Given the description of an element on the screen output the (x, y) to click on. 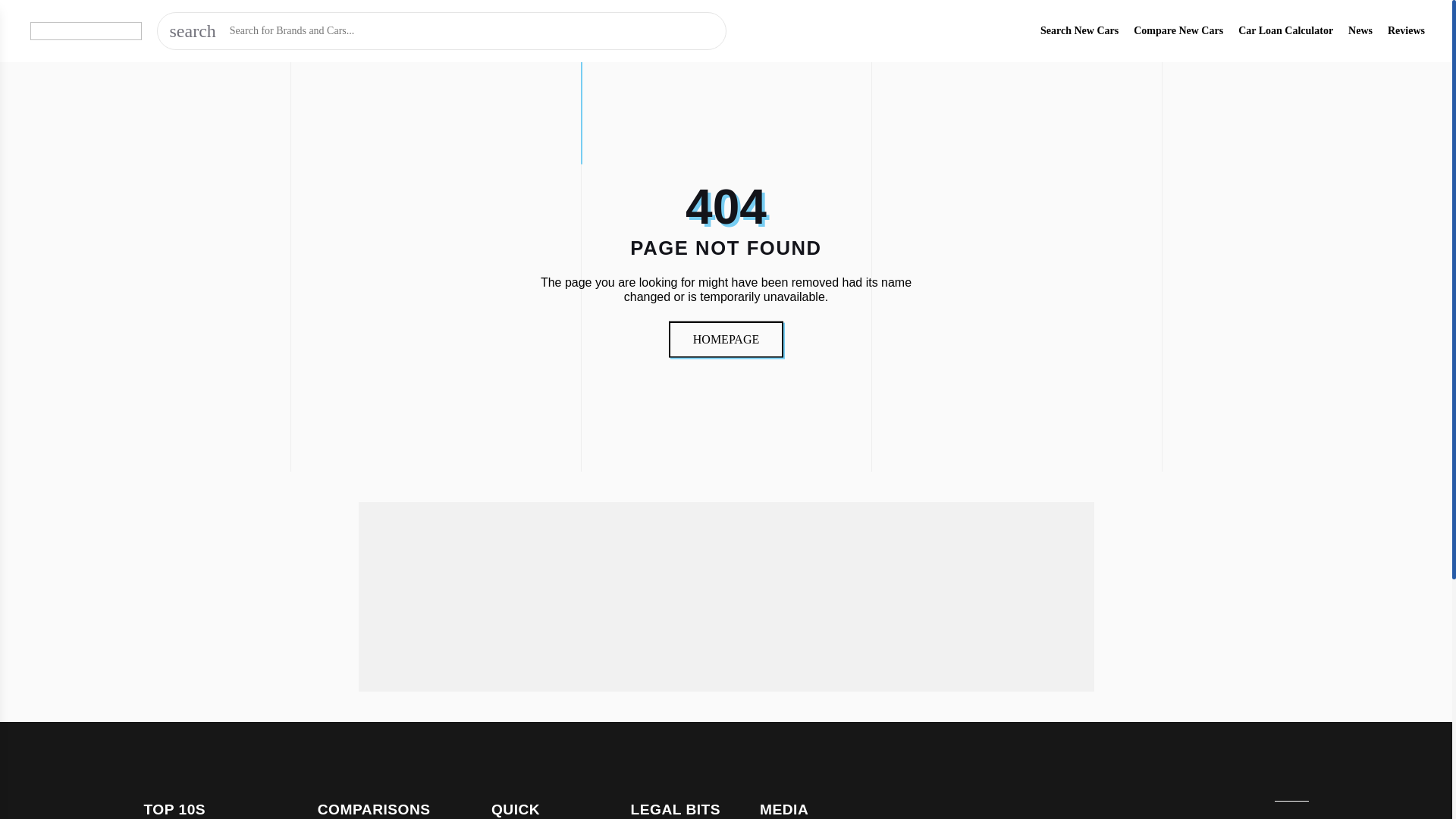
Compare New Cars (1178, 30)
News (1360, 30)
Reviews (1406, 30)
Search New Cars (1079, 30)
Car Loan Calculator (1286, 30)
HOMEPAGE (725, 338)
